Given the description of an element on the screen output the (x, y) to click on. 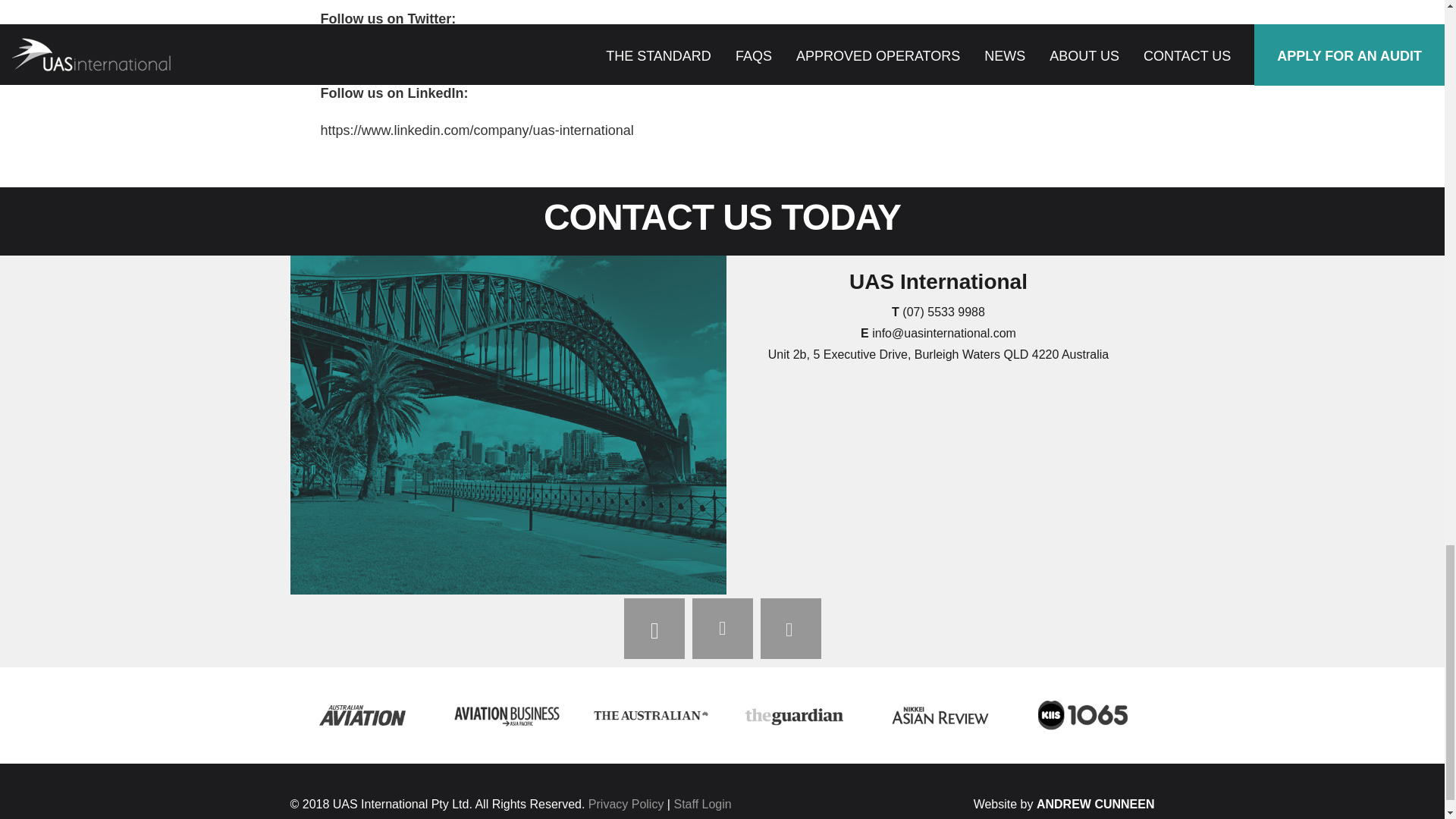
Staff Login (701, 803)
ANDREW CUNNEEN (1095, 803)
Privacy Policy (625, 803)
